Given the description of an element on the screen output the (x, y) to click on. 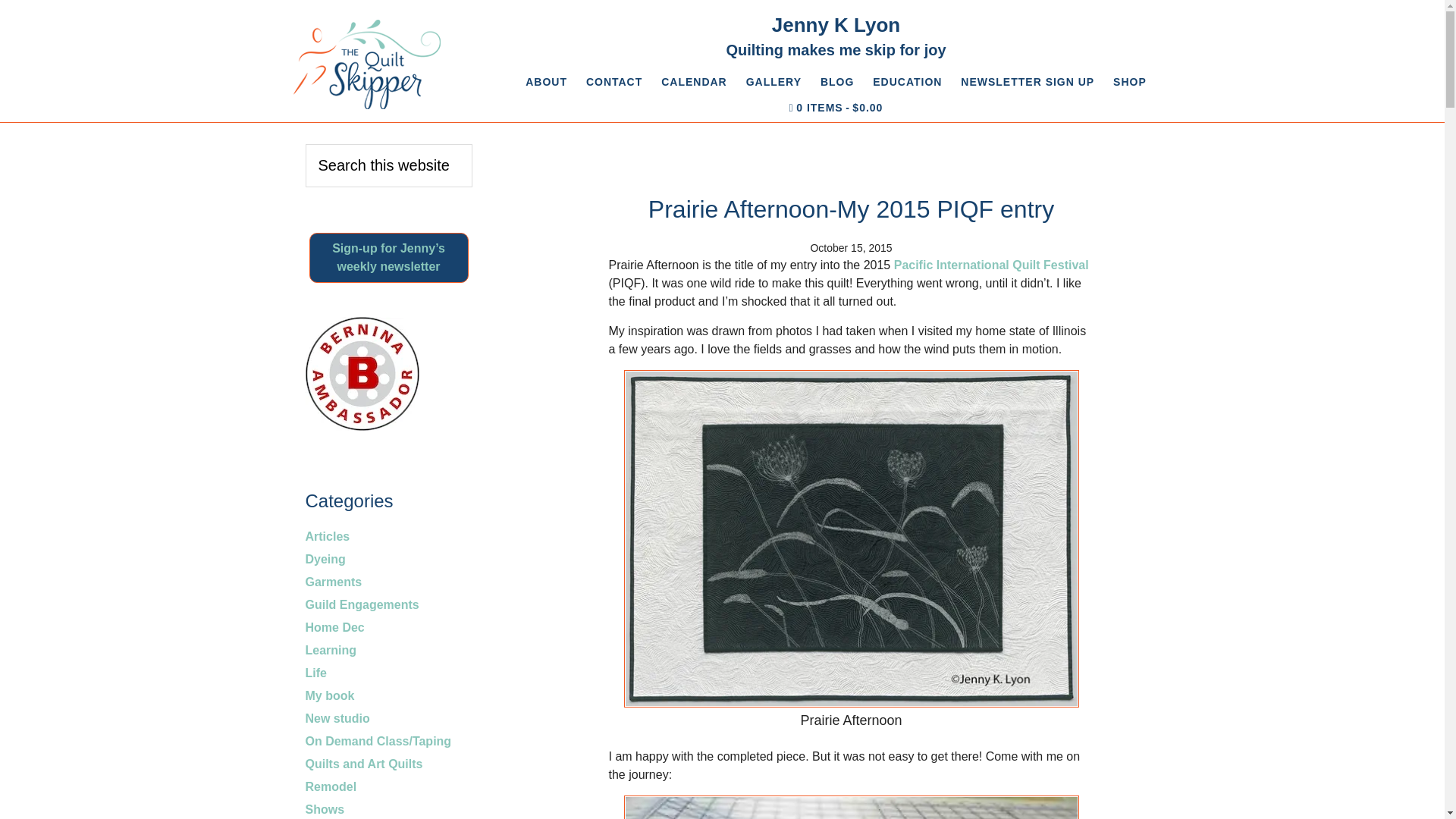
CONTACT (613, 81)
SHOP (1129, 81)
GALLERY (773, 81)
CALENDAR (694, 81)
NEWSLETTER SIGN UP (1027, 81)
ABOUT (546, 81)
EDUCATION (906, 81)
THE QUILT SKIPPER (365, 64)
